Given the description of an element on the screen output the (x, y) to click on. 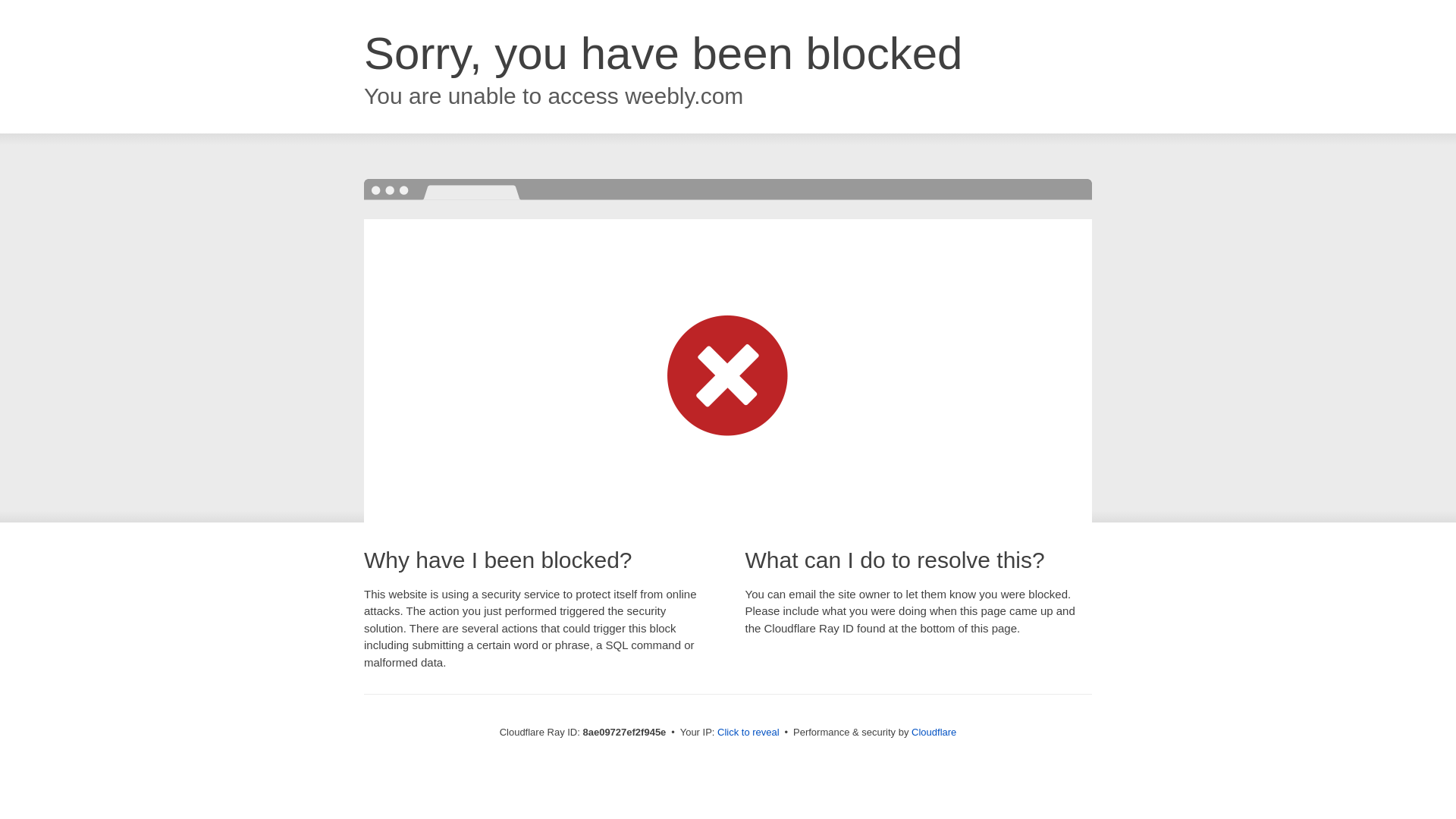
Cloudflare (933, 731)
Click to reveal (747, 732)
